Given the description of an element on the screen output the (x, y) to click on. 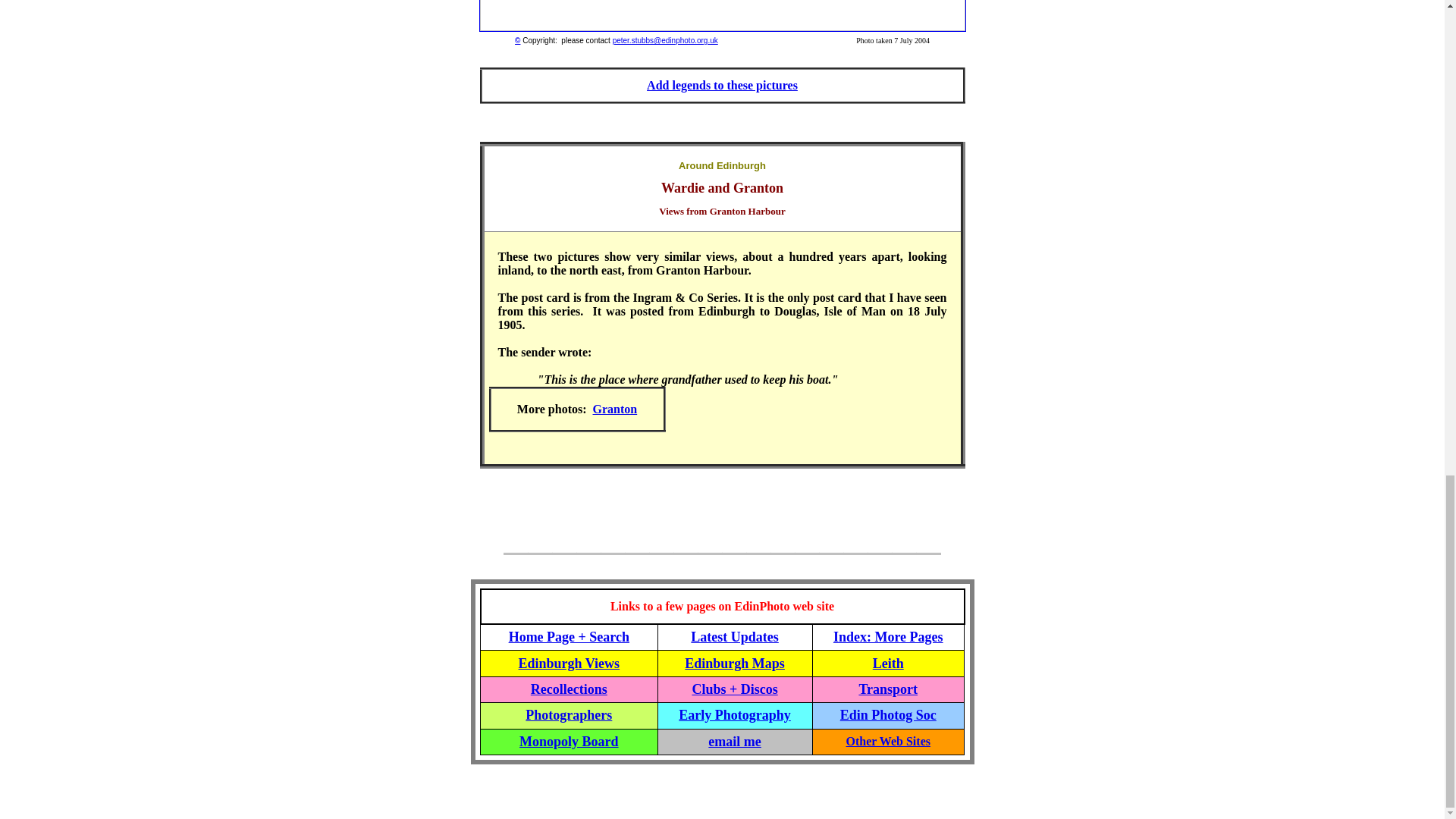
Index: More Pages (887, 636)
Granton (614, 408)
Edinburgh Maps (734, 663)
Latest Updates (734, 636)
Early Photography (734, 714)
Edinburgh Views (569, 663)
Photographers (568, 714)
Add legends to these pictures (721, 84)
Recollections (569, 688)
Leith (888, 663)
